Given the description of an element on the screen output the (x, y) to click on. 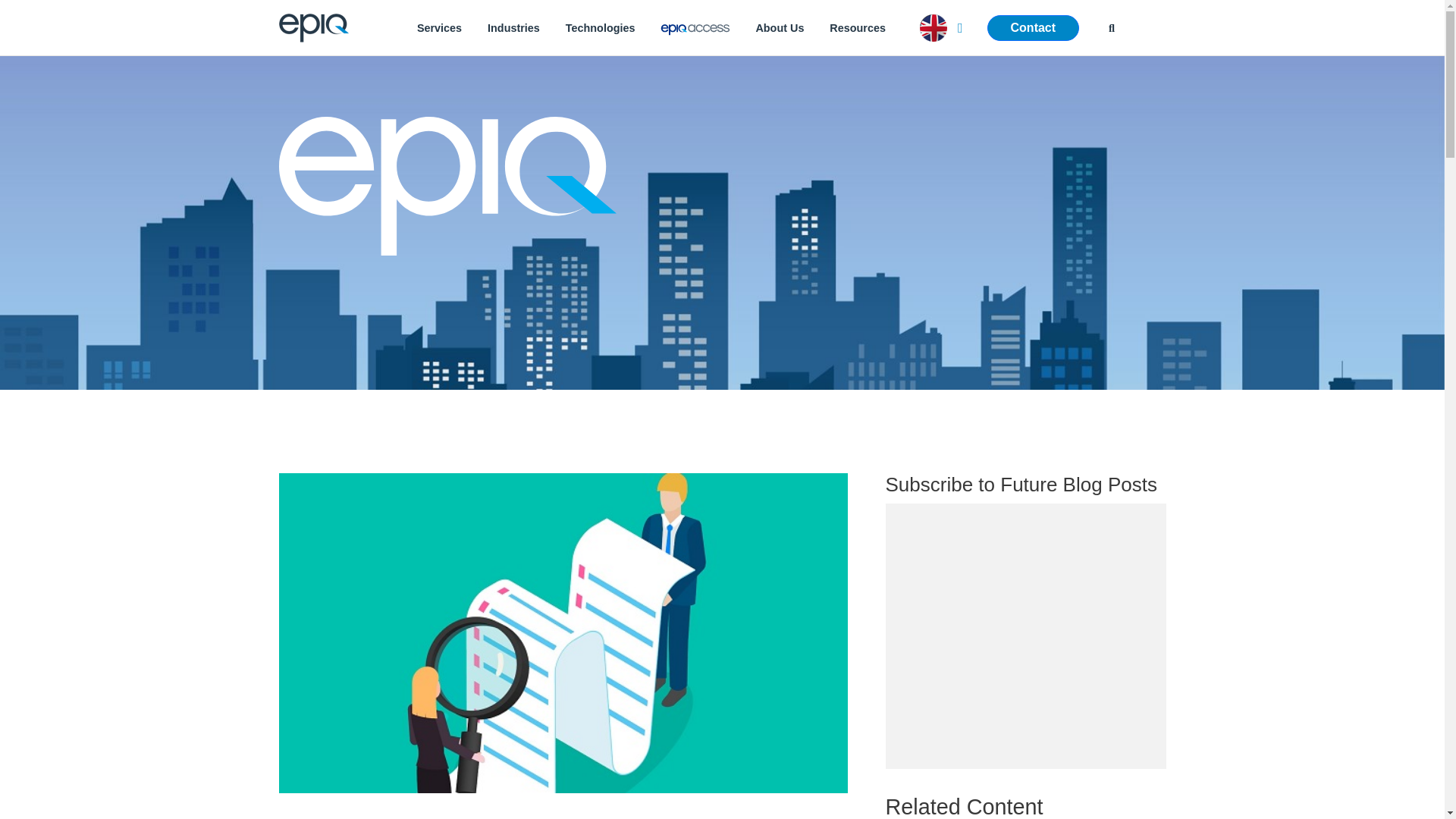
Technologies (600, 27)
About Us (779, 27)
Industries (513, 27)
Contact (1033, 27)
Services (439, 27)
Resources (857, 27)
